Given the description of an element on the screen output the (x, y) to click on. 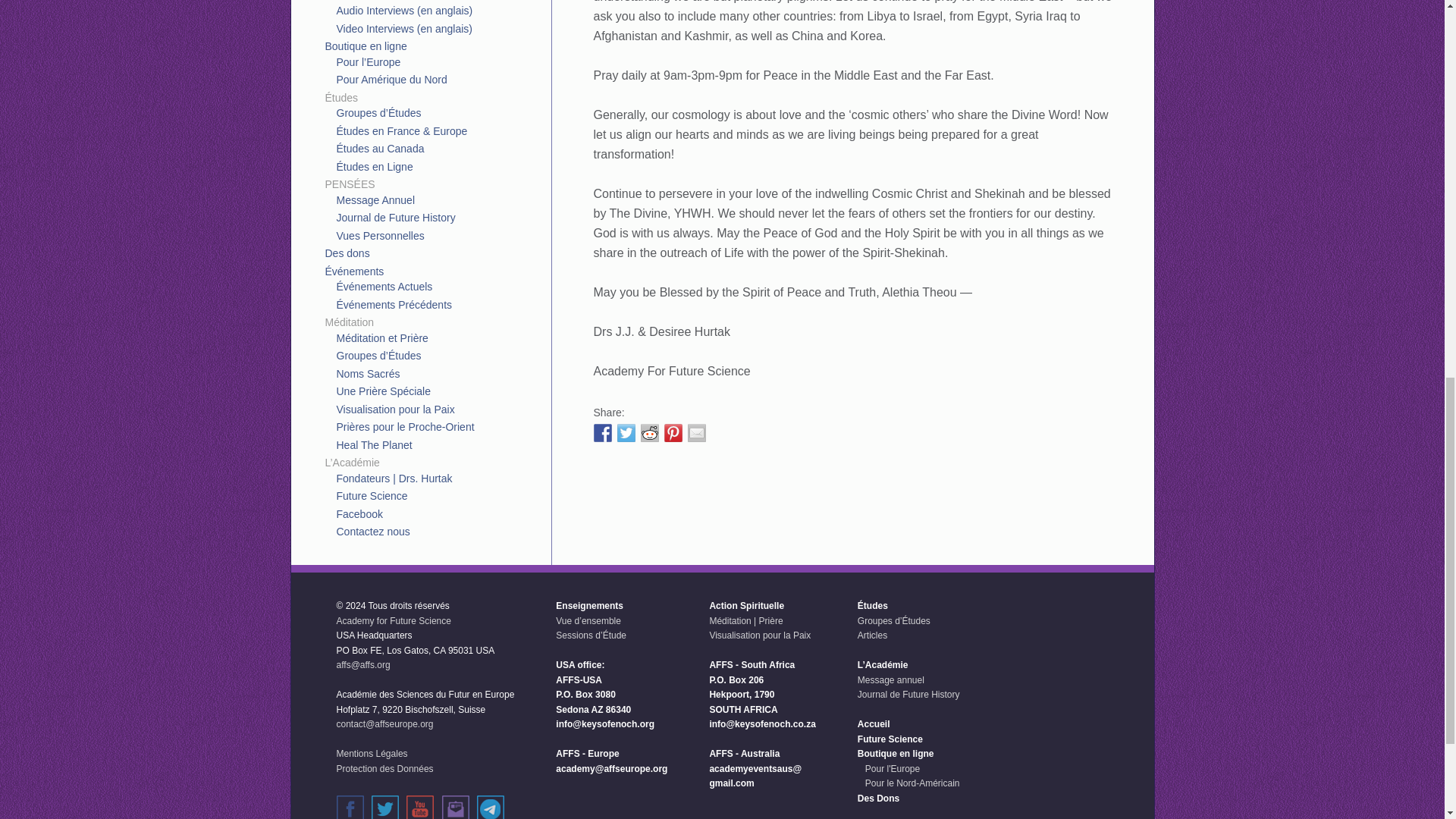
Share by email (695, 433)
Pin it with Pinterest (672, 433)
Share on Reddit (649, 433)
Share on Twitter (625, 433)
Share on Facebook (601, 433)
